Given the description of an element on the screen output the (x, y) to click on. 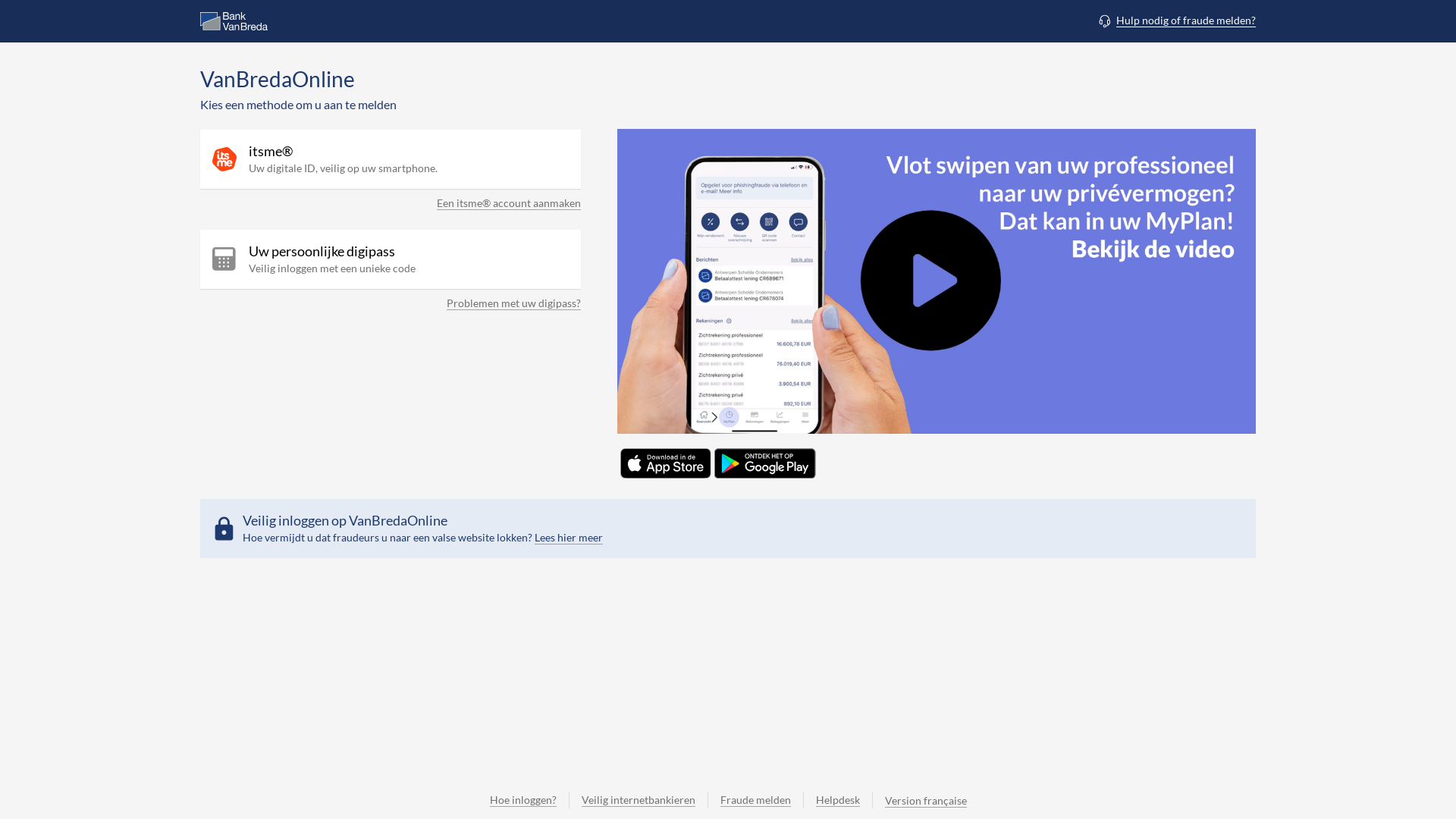
Hulp nodig of fraude melden? Element type: text (1175, 20)
Hoe inloggen? Element type: text (522, 799)
Problemen met uw digipass? Element type: text (513, 305)
Fraude melden Element type: text (754, 799)
Veilig internetbankieren Element type: text (637, 799)
Lees hier meer Element type: text (568, 537)
Helpdesk Element type: text (836, 799)
